Given the description of an element on the screen output the (x, y) to click on. 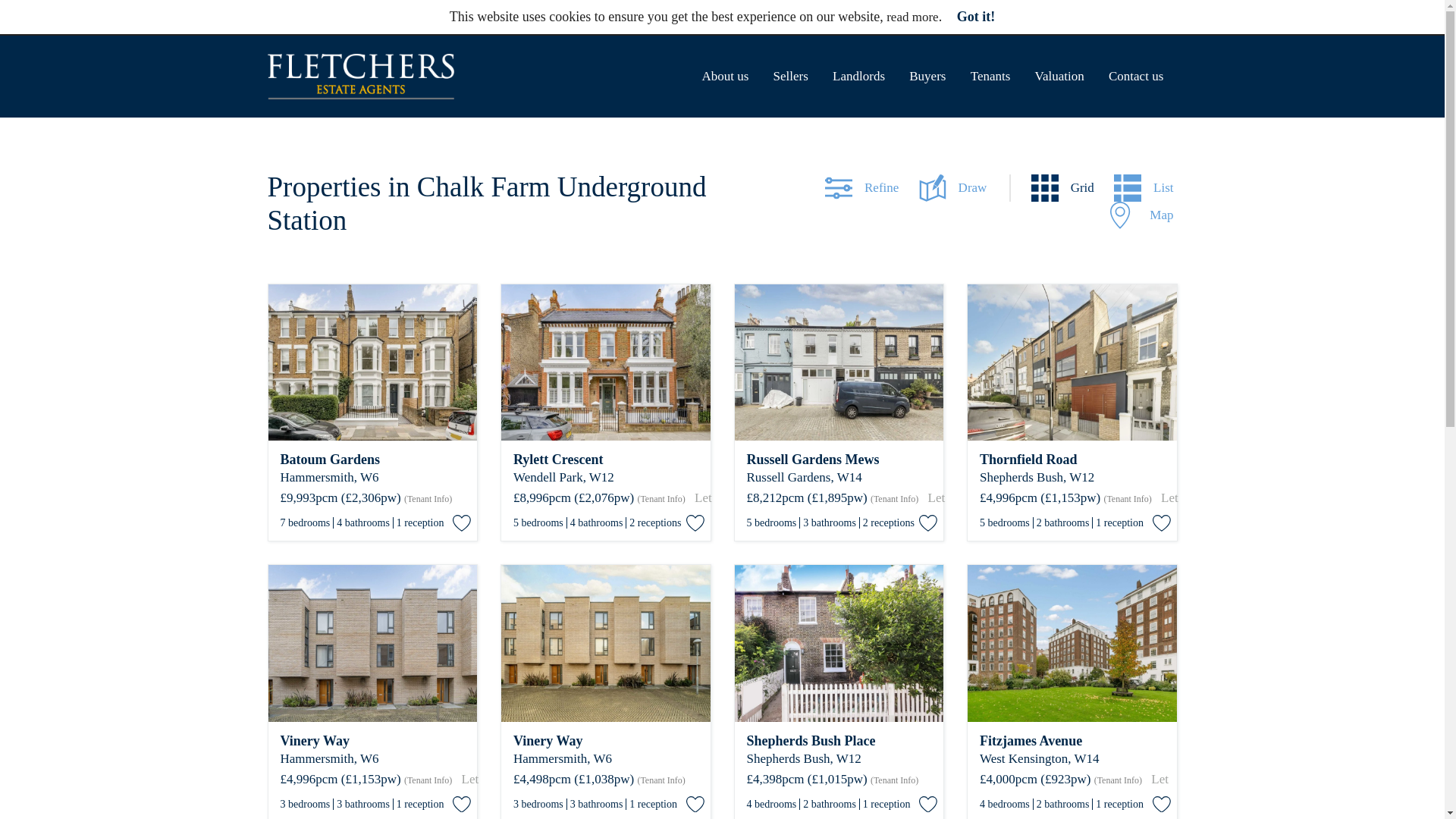
Tenant Info (427, 498)
List (1143, 187)
Got it! (975, 16)
Tenant Info (894, 498)
Contact us (1135, 76)
Map (1141, 215)
Tenant Info (660, 498)
Vinery Way (373, 740)
Tenant Info (1127, 498)
Sellers (790, 76)
Map view (1141, 215)
Tenants (990, 76)
Landlords (858, 76)
Draw a Search (964, 187)
Vinery Way (605, 740)
